Given the description of an element on the screen output the (x, y) to click on. 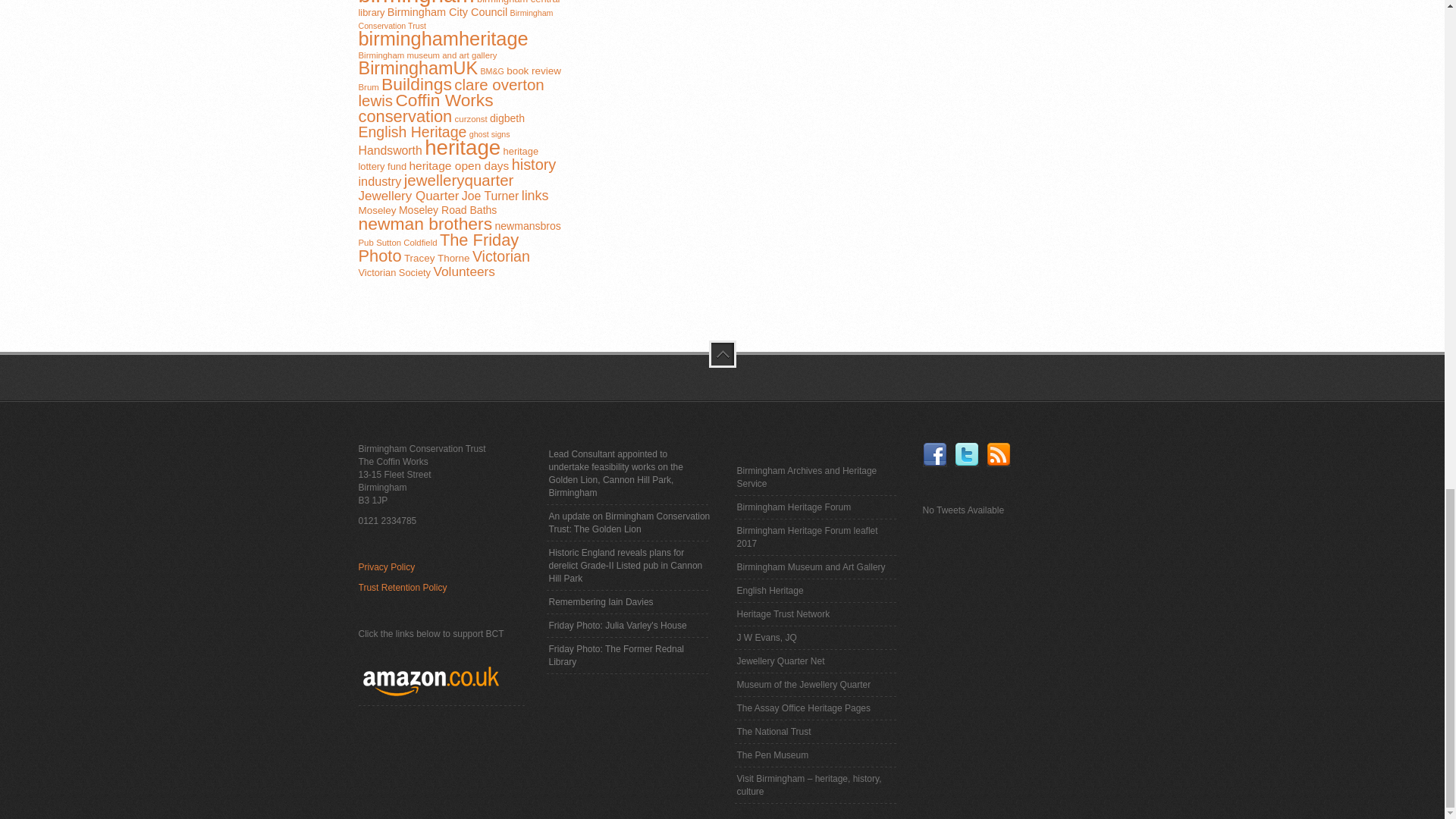
Go to Top! (721, 353)
Birmingham Heritage Forum leaflet 2017 (815, 537)
Friday Photo: Julia Varley's House (617, 625)
Friday Photo: The Former Rednal Library (629, 655)
Remembering Iain Davies (600, 602)
An update on Birmingham Conservation Trust: The Golden Lion (629, 523)
